Given the description of an element on the screen output the (x, y) to click on. 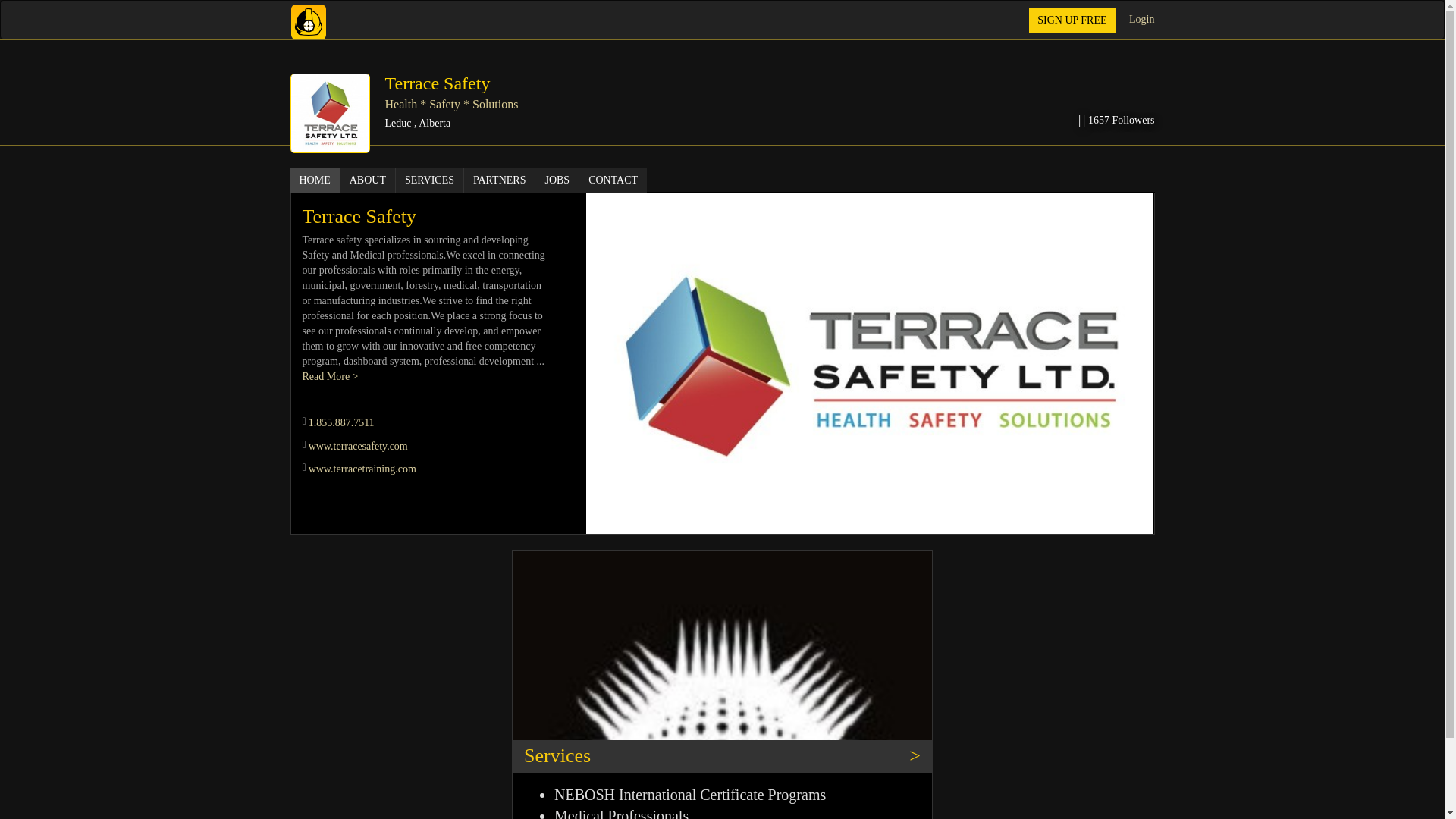
CONTACT (612, 180)
PARTNERS (499, 180)
1.855.887.7511 (341, 422)
HOME (314, 180)
JOBS (557, 180)
Login (1141, 19)
www.terracetraining.com (362, 469)
Terrace Safety (437, 83)
SIGN UP FREE (1072, 20)
ABOUT (368, 180)
SERVICES (430, 180)
www.terracesafety.com (357, 446)
